Given the description of an element on the screen output the (x, y) to click on. 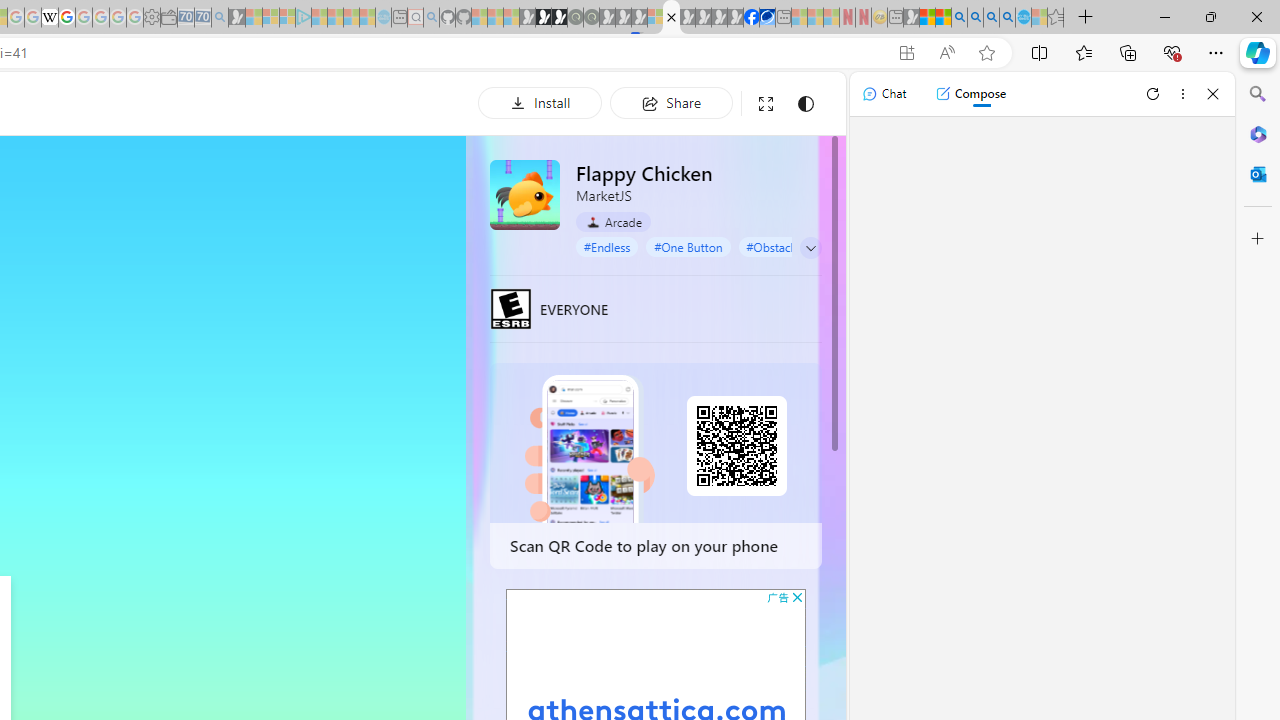
Favorites - Sleeping (1055, 17)
Target page - Wikipedia (49, 17)
Chat (884, 93)
Flappy Chicken (525, 194)
AirNow.gov (767, 17)
EVERYONE (511, 308)
